Given the description of an element on the screen output the (x, y) to click on. 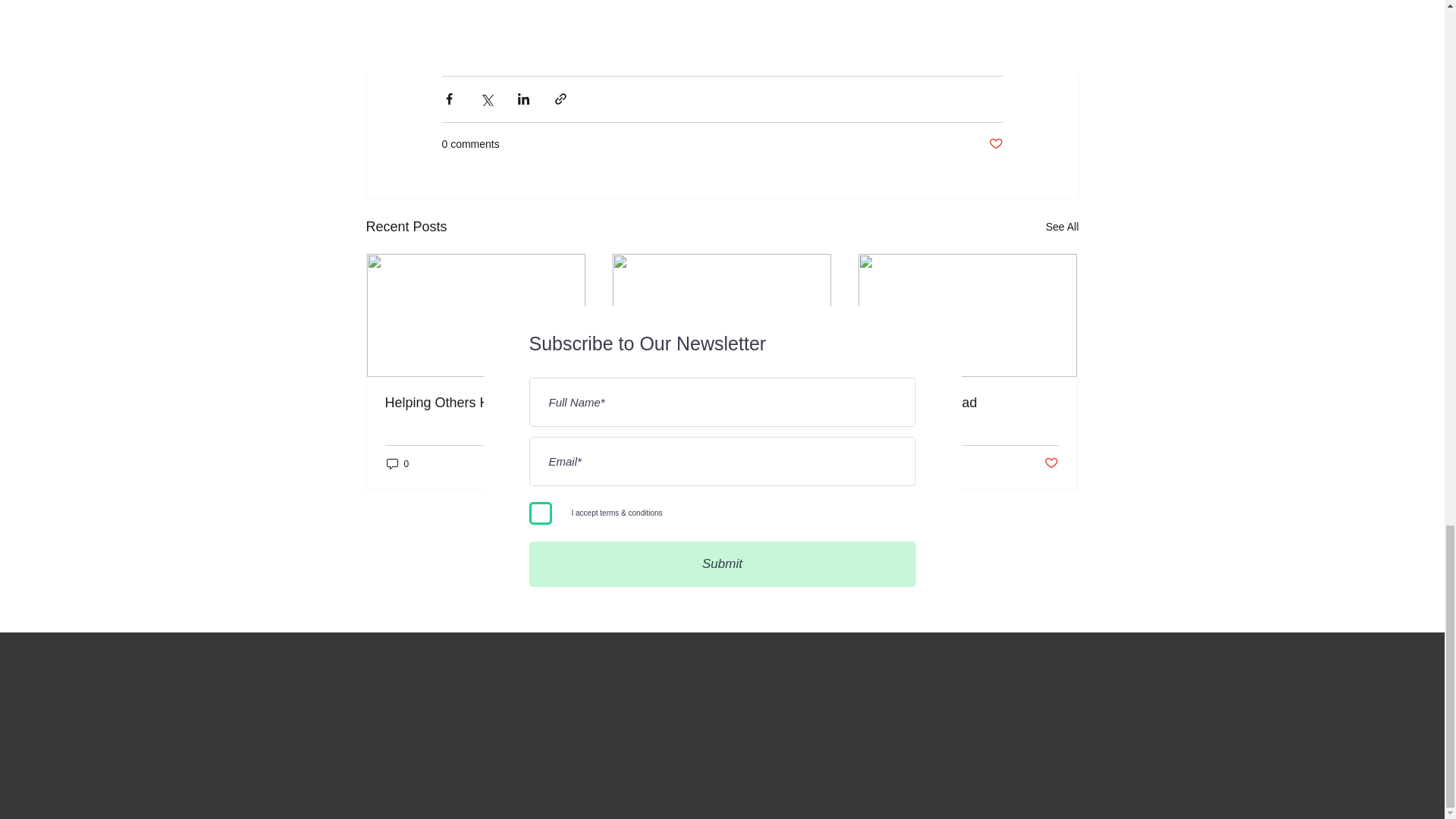
See All (1061, 227)
Post not marked as liked (804, 463)
Helping Others Helps You (476, 402)
0 (397, 463)
Post not marked as liked (1050, 463)
Fork in the Road (967, 402)
0 (889, 463)
Post not marked as liked (995, 144)
Post not marked as liked (558, 463)
One Heart (721, 402)
0 (643, 463)
Submit (722, 564)
